Given the description of an element on the screen output the (x, y) to click on. 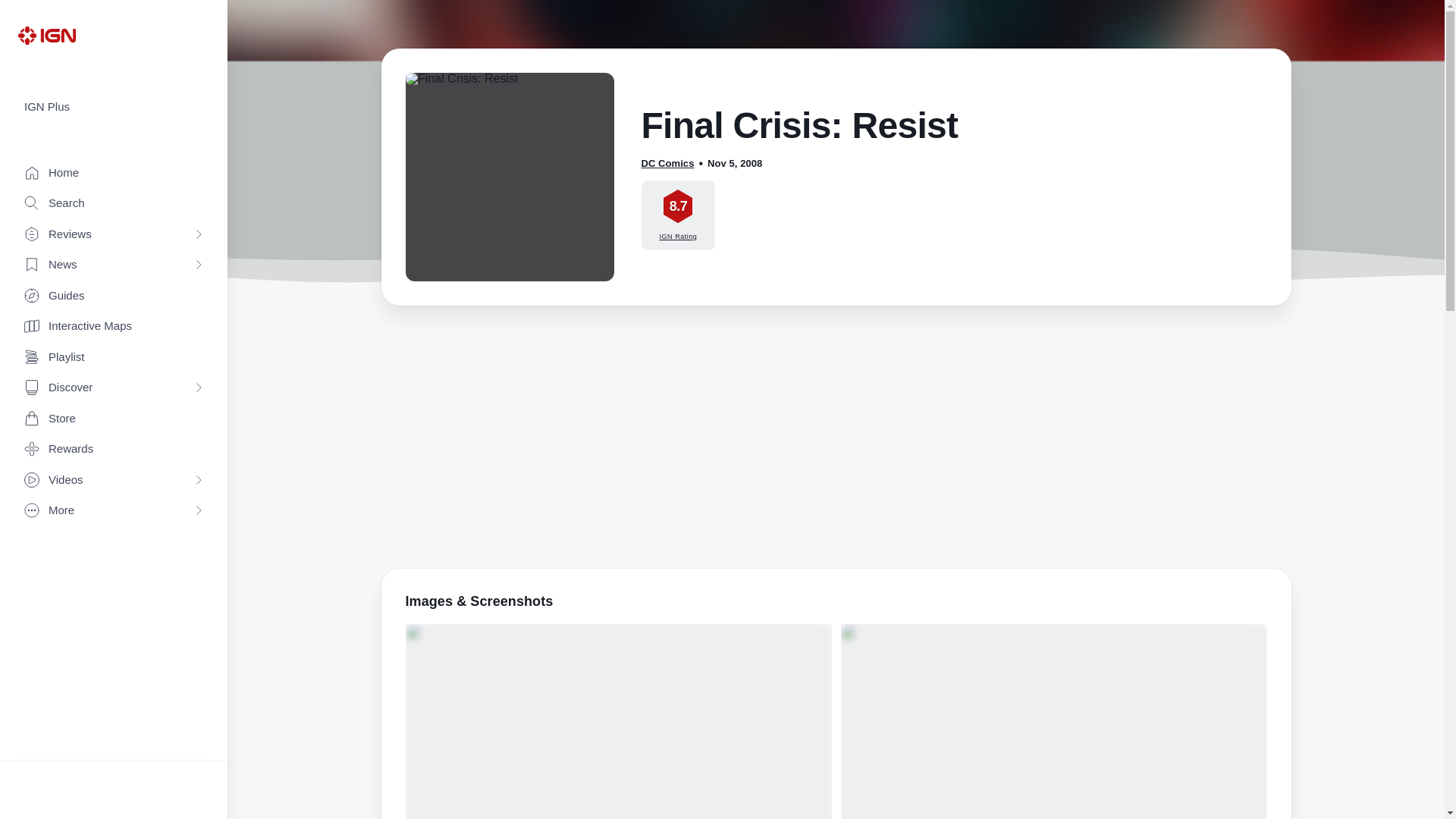
Search (113, 203)
IGN Logo (46, 34)
Store (113, 418)
More (113, 510)
Guides (113, 295)
More (113, 510)
IGN (46, 35)
IGN Plus (113, 107)
Home (113, 172)
Search (113, 203)
